Given the description of an element on the screen output the (x, y) to click on. 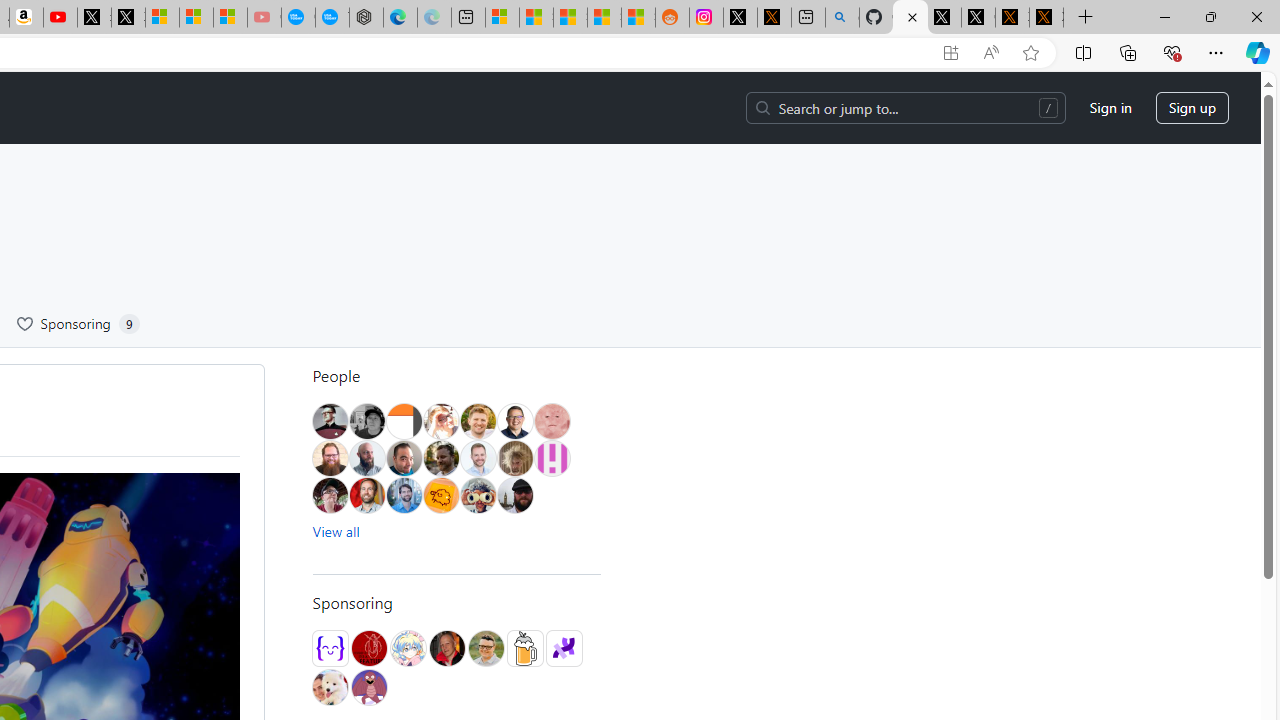
@nathos (404, 457)
App available. Install GitHub (950, 53)
@sindresorhus (330, 687)
@exercism (330, 648)
@exercism (330, 648)
@knsv (446, 648)
@skalnik (551, 421)
@its-a-feature (368, 648)
